Given the description of an element on the screen output the (x, y) to click on. 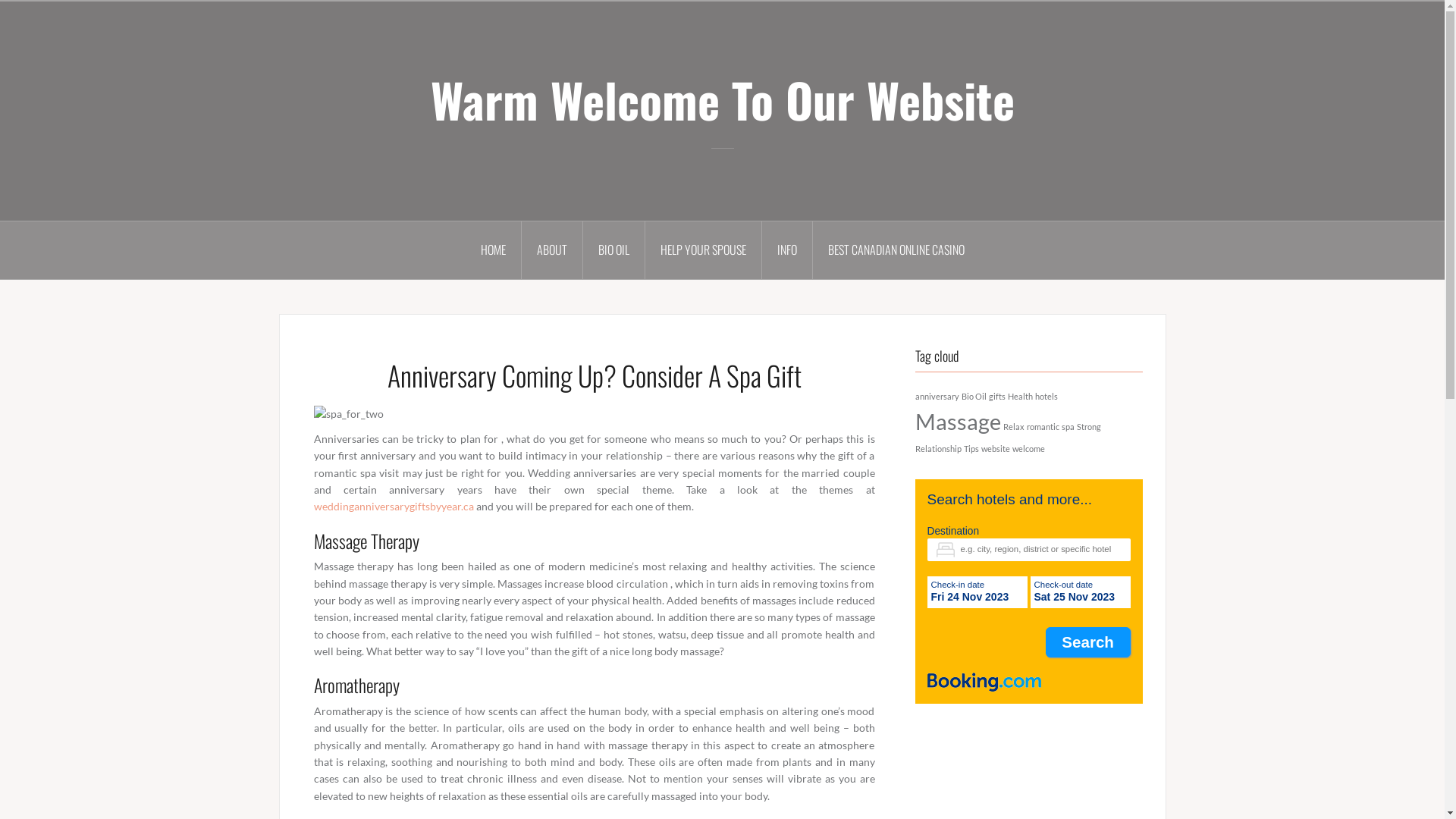
Relax Element type: text (1012, 426)
spa Element type: text (1067, 426)
BEST CANADIAN ONLINE CASINO Element type: text (895, 250)
Bio Oil Element type: text (973, 396)
Tips Element type: text (970, 448)
welcome Element type: text (1027, 448)
romantic Element type: text (1042, 426)
e.g. city, region, district or specific hotel Element type: hover (1027, 549)
HELP YOUR SPOUSE Element type: text (702, 250)
Search Element type: text (1087, 641)
Strong Relationship Element type: text (1007, 437)
hotels Element type: text (1045, 396)
website Element type: text (995, 448)
HOME Element type: text (493, 250)
Warm Welcome To Our Website Element type: text (722, 99)
Health Element type: text (1019, 396)
anniversary Element type: text (936, 396)
BIO OIL Element type: text (613, 250)
weddinganniversarygiftsbyyear.ca Element type: text (393, 505)
Massage Element type: text (957, 420)
Skip to content Element type: text (0, 0)
INFO Element type: text (786, 250)
ABOUT Element type: text (552, 250)
gifts Element type: text (996, 396)
